Given the description of an element on the screen output the (x, y) to click on. 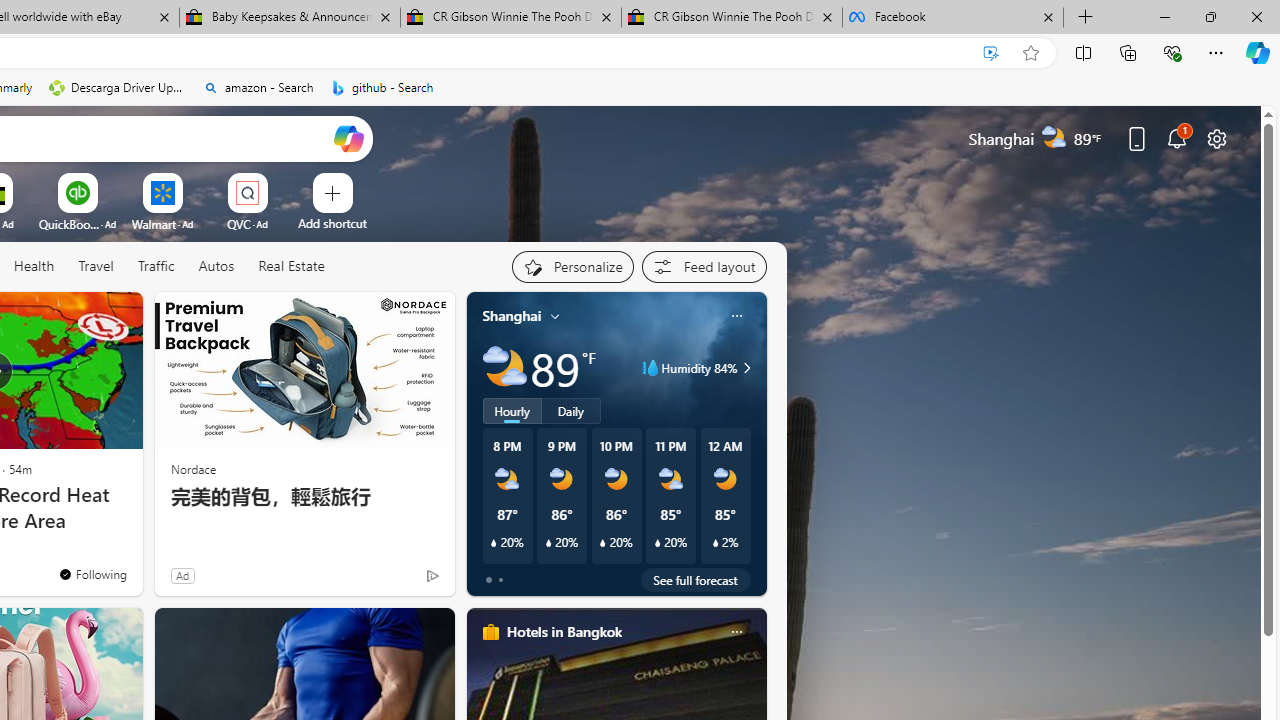
Minimize (1164, 16)
Notifications (1176, 138)
Ad Choice (432, 575)
Hotels in Bangkok (563, 631)
Autos (215, 265)
Open Copilot (347, 138)
My location (555, 315)
Personalize your feed" (571, 266)
Settings and more (Alt+F) (1215, 52)
Travel (95, 267)
Add a site (332, 223)
Humidity 84% (744, 367)
Open Copilot (347, 138)
